Given the description of an element on the screen output the (x, y) to click on. 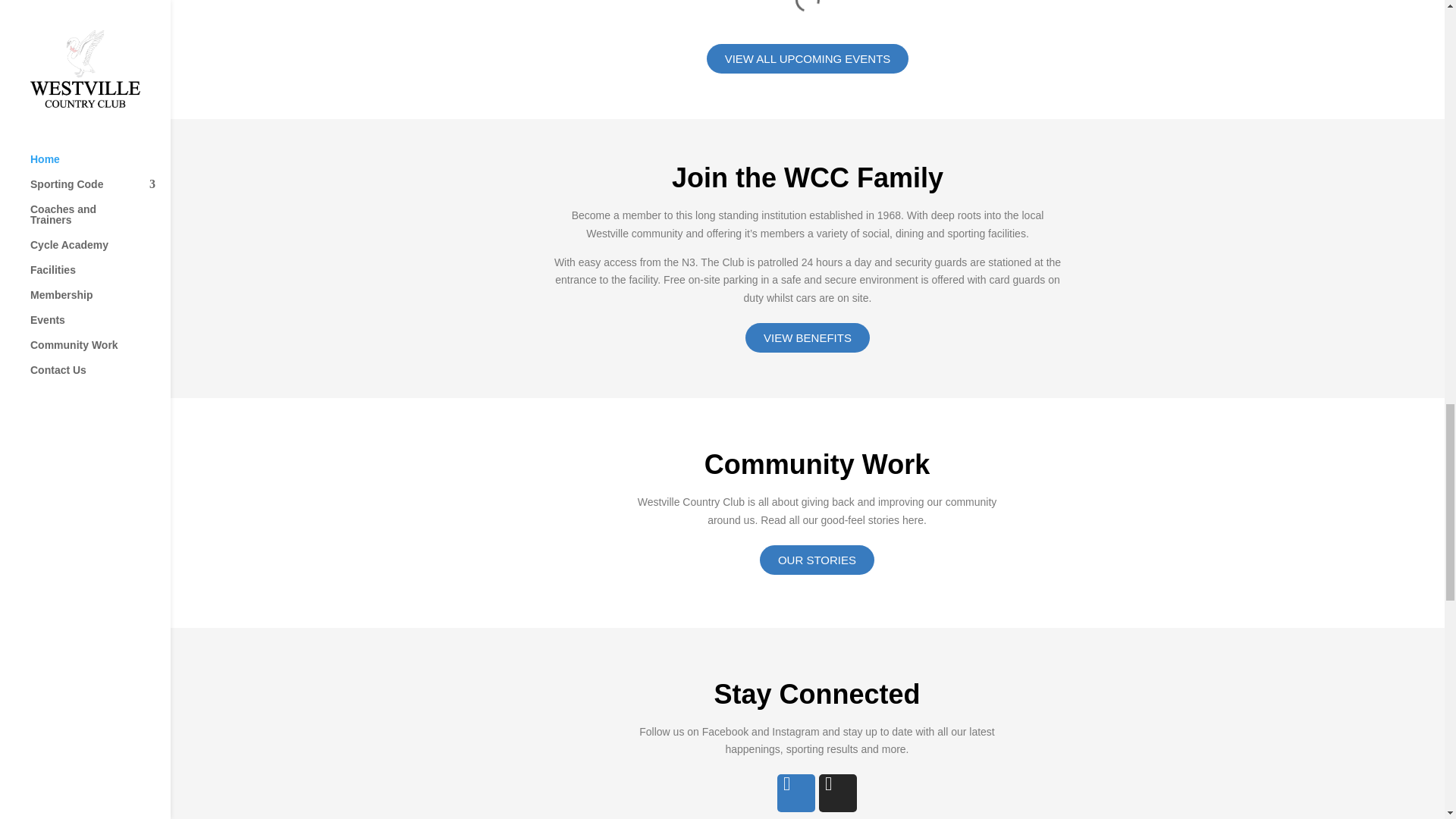
OUR STORIES (817, 559)
VIEW ALL UPCOMING EVENTS (807, 58)
VIEW BENEFITS (807, 337)
